Given the description of an element on the screen output the (x, y) to click on. 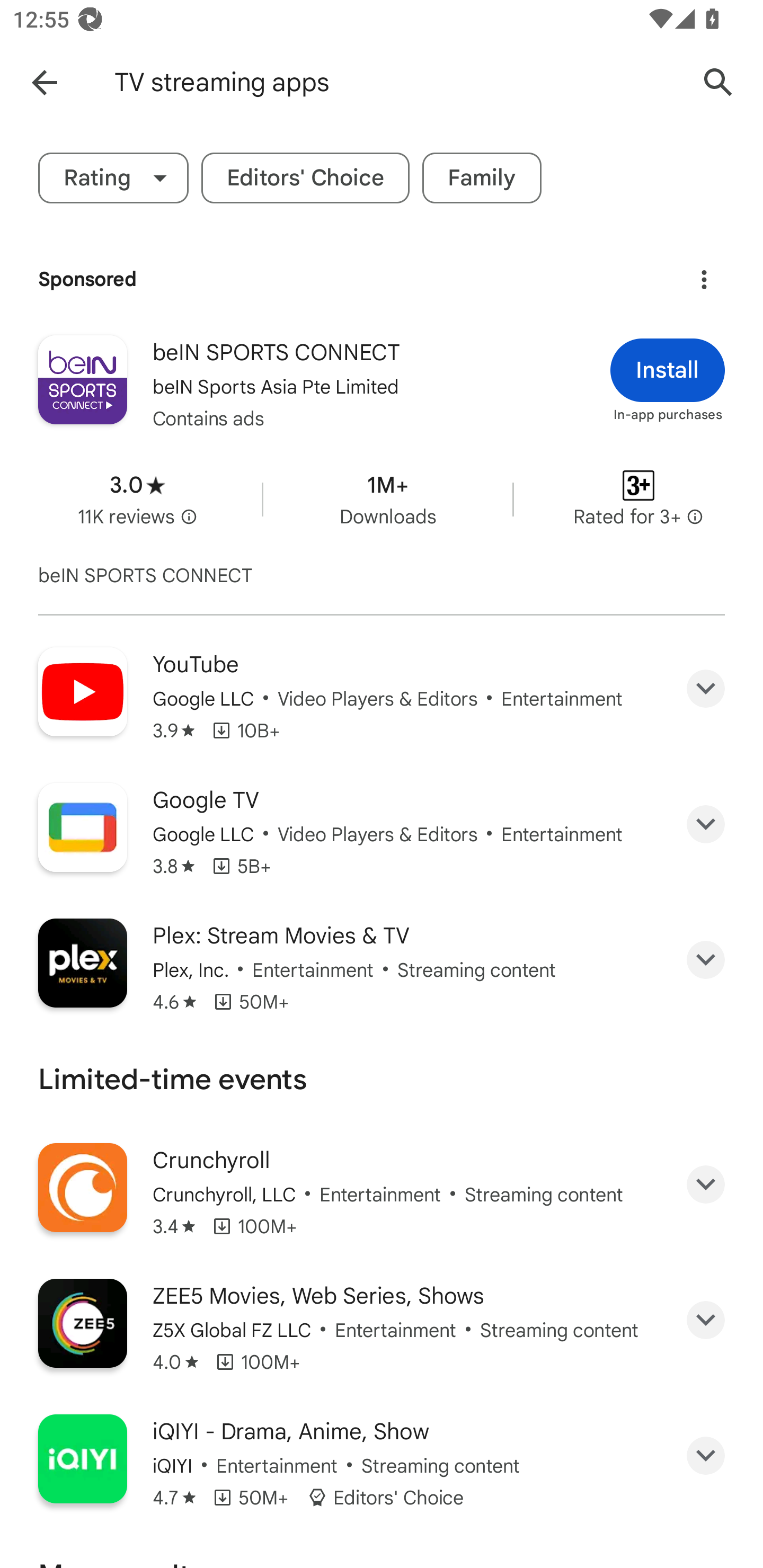
TV streaming apps (397, 82)
Navigate up (44, 81)
Search Google Play (718, 81)
Rating - double tap to change the filter (113, 177)
Editors' Choice - double tap to toggle the filter (305, 177)
Family - double tap to toggle the filter (481, 177)
About this ad (704, 274)
Install (667, 369)
Average rating 3.0 stars in 11 thousand reviews (137, 499)
Downloaded 1 million plus times (387, 499)
Content rating Rated for 3+ (638, 499)
Expand content for YouTube (705, 688)
Expand content for Google TV (705, 823)
Expand content for Plex: Stream Movies & TV (705, 959)
Expand content for Crunchyroll (705, 1184)
Expand content for ZEE5 Movies, Web Series, Shows (705, 1319)
Expand content for iQIYI - Drama, Anime, Show (705, 1455)
